Given the description of an element on the screen output the (x, y) to click on. 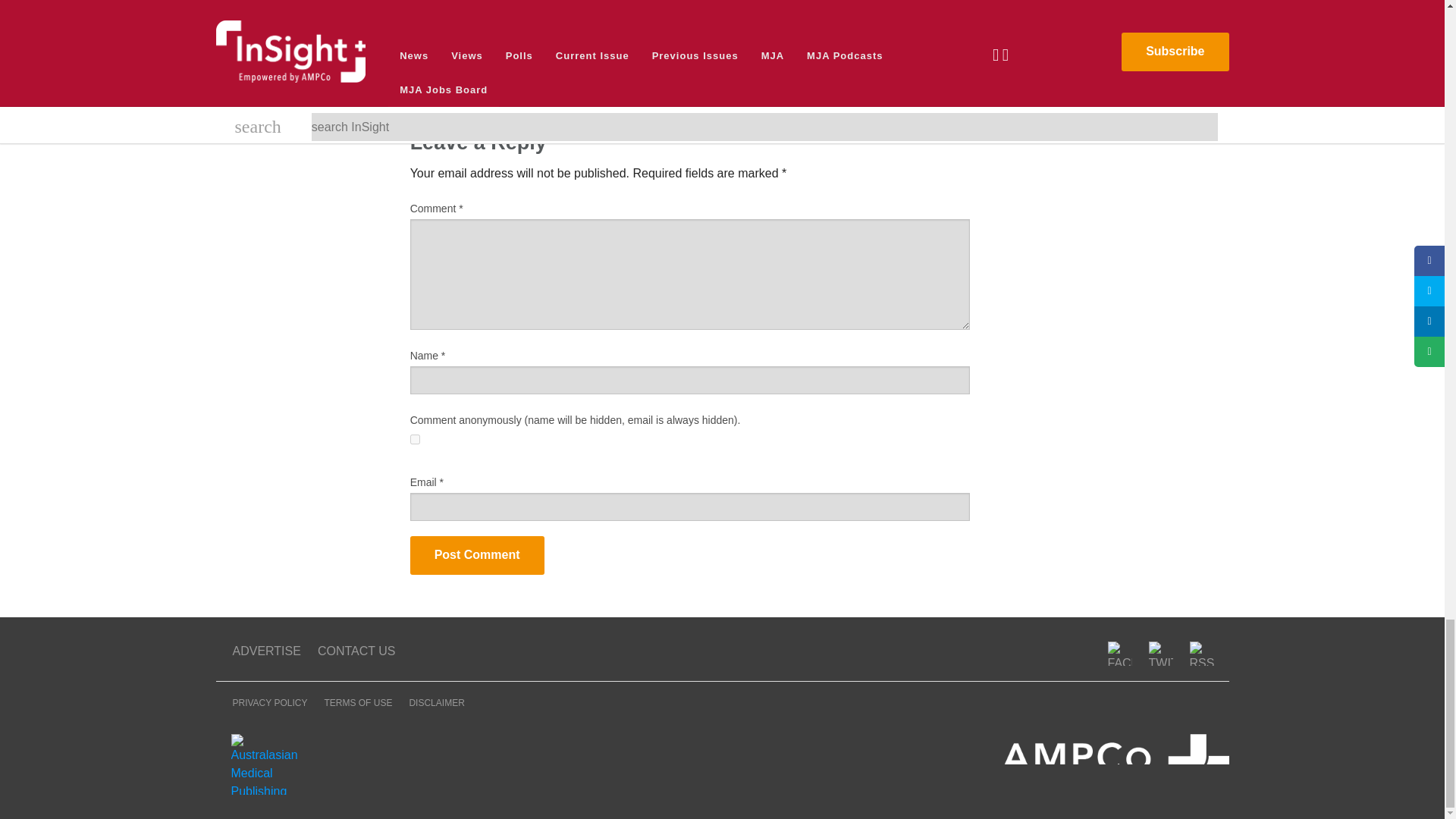
on (415, 439)
Post Comment (477, 555)
